Given the description of an element on the screen output the (x, y) to click on. 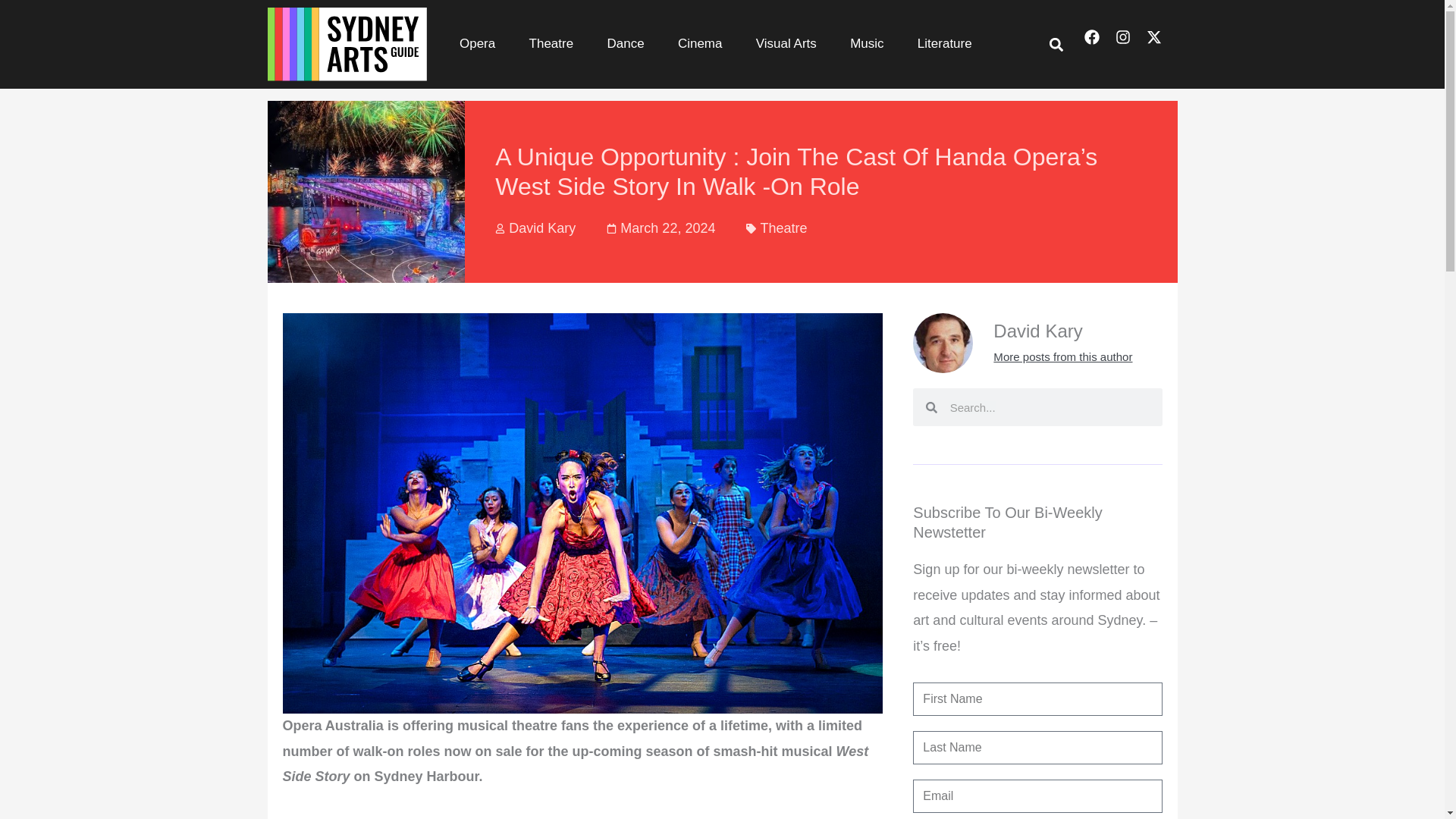
David Kary (535, 228)
Literature (944, 44)
Opera (477, 44)
Visual Arts (785, 44)
Cinema (700, 44)
Music (866, 44)
March 22, 2024 (660, 228)
Theatre (550, 44)
Facebook (1099, 44)
X-twitter (1161, 44)
Dance (625, 44)
Theatre (783, 227)
Instagram (1130, 44)
